Given the description of an element on the screen output the (x, y) to click on. 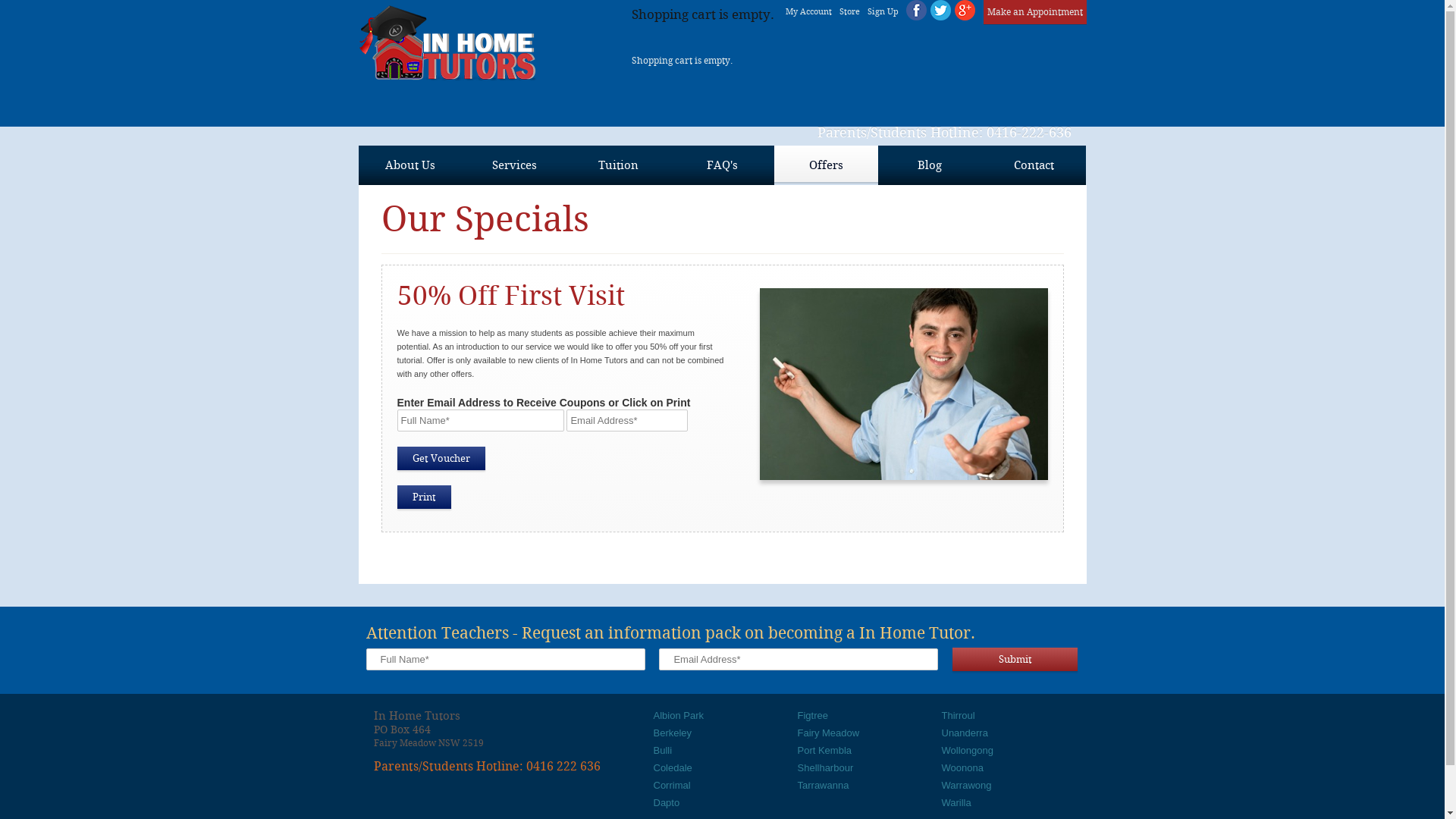
Google Element type: text (963, 10)
Thirroul Element type: text (958, 715)
Wollongong Element type: text (967, 750)
Bulli Element type: text (662, 750)
Tarrawanna Element type: text (823, 784)
Dapto Element type: text (666, 802)
Tweeter Element type: text (939, 10)
Tuition Element type: text (617, 165)
Unanderra Element type: text (964, 732)
Sign Up Element type: text (881, 12)
Services Element type: text (514, 165)
Coledale Element type: text (672, 767)
My Account Element type: text (807, 12)
Get Voucher Element type: text (441, 458)
Submit Element type: text (1014, 659)
Woonona Element type: text (962, 767)
Facebook Element type: text (915, 10)
Shellharbour Element type: text (825, 767)
Print Element type: text (424, 496)
Offers Element type: text (825, 165)
Store Element type: text (849, 12)
Make an Appointment Element type: text (1033, 12)
Warilla Element type: text (956, 802)
FAQ's Element type: text (722, 165)
Figtree Element type: text (812, 715)
Albion Park Element type: text (678, 715)
Corrimal Element type: text (671, 784)
Warrawong Element type: text (966, 784)
Fairy Meadow Element type: text (828, 732)
Blog Element type: text (930, 165)
Berkeley Element type: text (672, 732)
Contact Element type: text (1033, 165)
Port Kembla Element type: text (824, 750)
About Us Element type: text (409, 165)
